Given the description of an element on the screen output the (x, y) to click on. 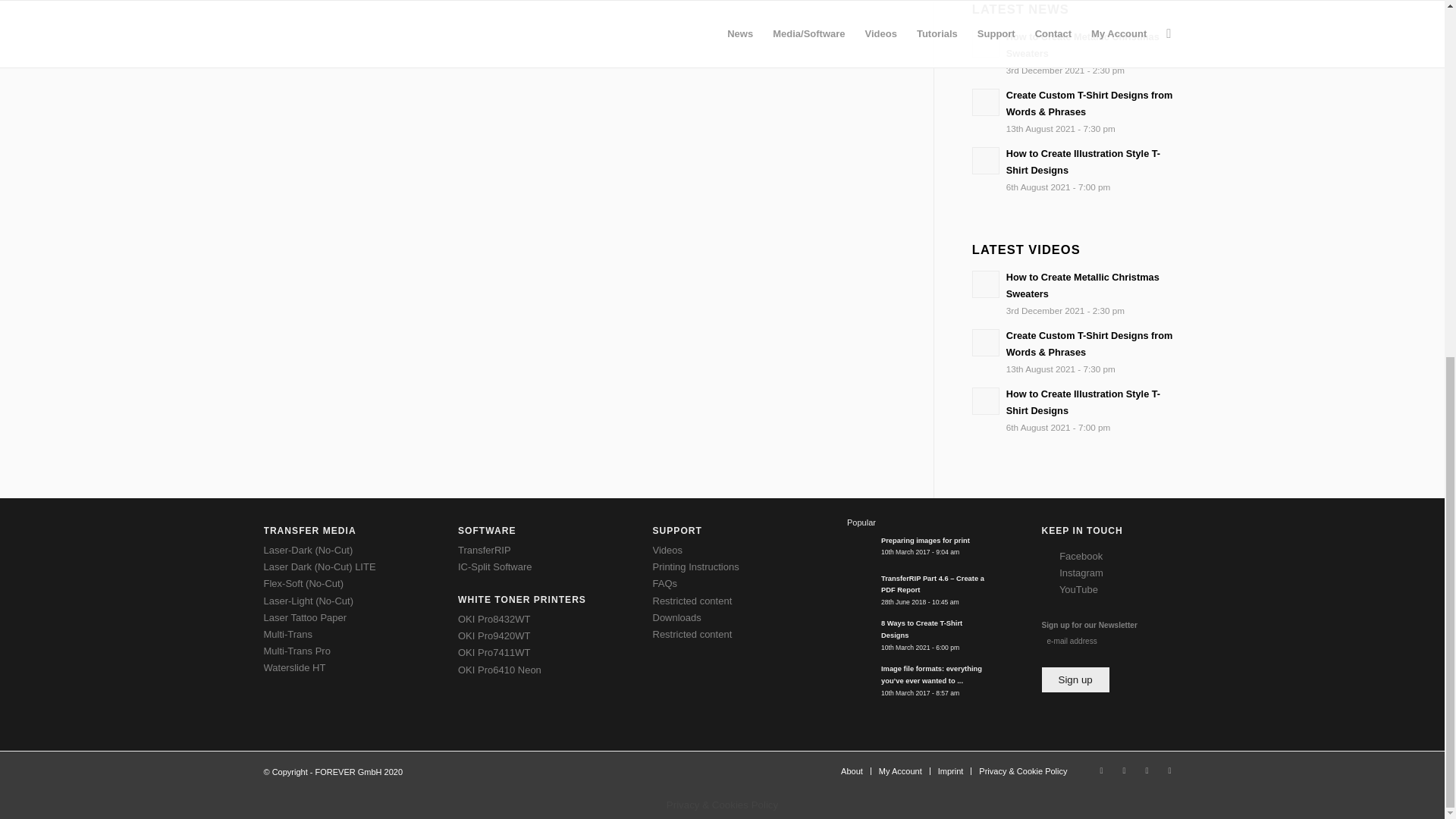
Read: How to Create Illustration Style T-Shirt Designs (985, 160)
Read: How to Create Metallic Christmas Sweaters (985, 284)
Sign up (1075, 679)
Read: How to Create Metallic Christmas Sweaters (1082, 44)
Read: How to Create Illustration Style T-Shirt Designs (1083, 162)
Read: How to Create Metallic Christmas Sweaters (1082, 285)
How to Create Metallic Christmas Sweaters (1082, 44)
Read: How to Create Metallic Christmas Sweaters (985, 43)
